Given the description of an element on the screen output the (x, y) to click on. 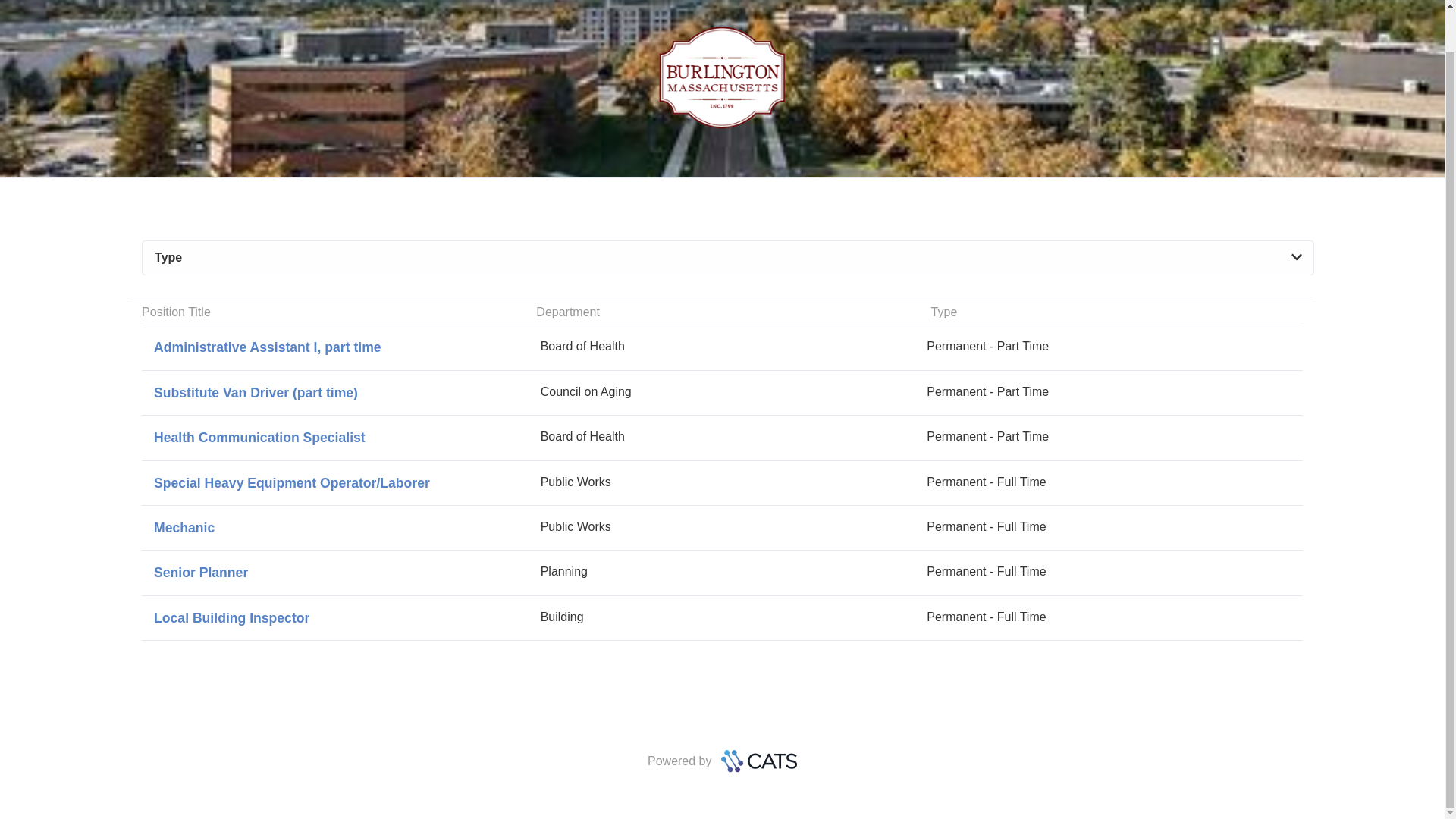
Type (722, 527)
